Given the description of an element on the screen output the (x, y) to click on. 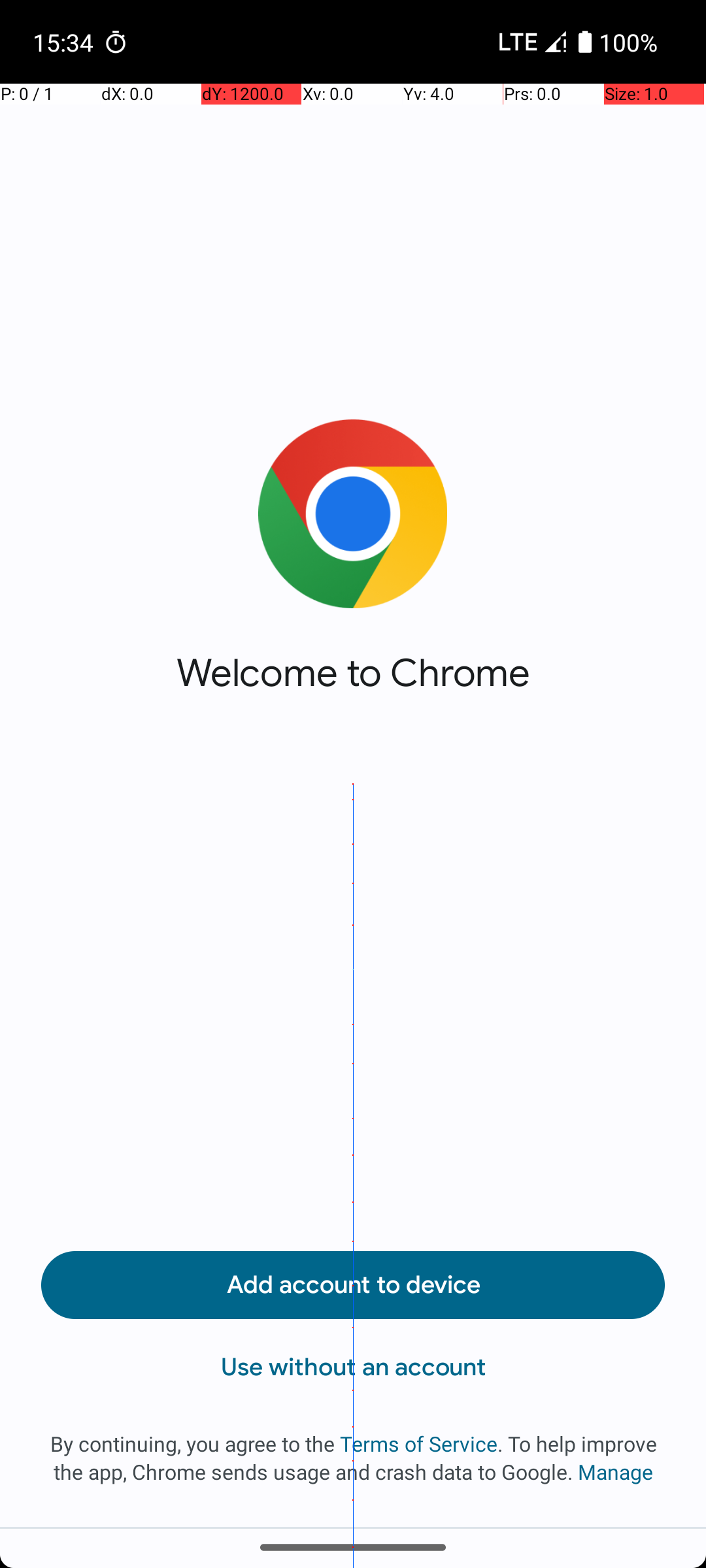
By continuing, you agree to the Terms of Service. To help improve the app, Chrome sends usage and crash data to Google. Manage Element type: android.widget.TextView (352, 1457)
Add account to device Element type: android.widget.Button (352, 1284)
Use without an account Element type: android.widget.Button (352, 1367)
